Given the description of an element on the screen output the (x, y) to click on. 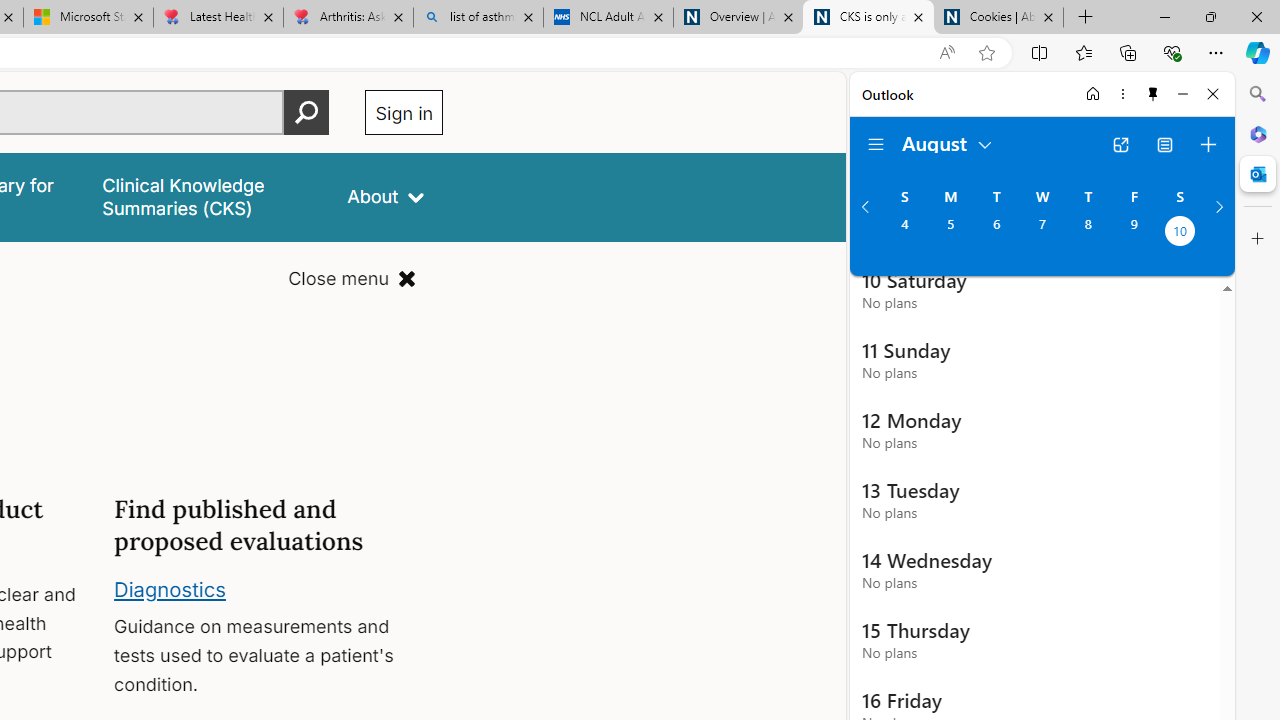
Friday, August 9, 2024.  (1134, 233)
Wednesday, August 7, 2024.  (1042, 233)
